Given the description of an element on the screen output the (x, y) to click on. 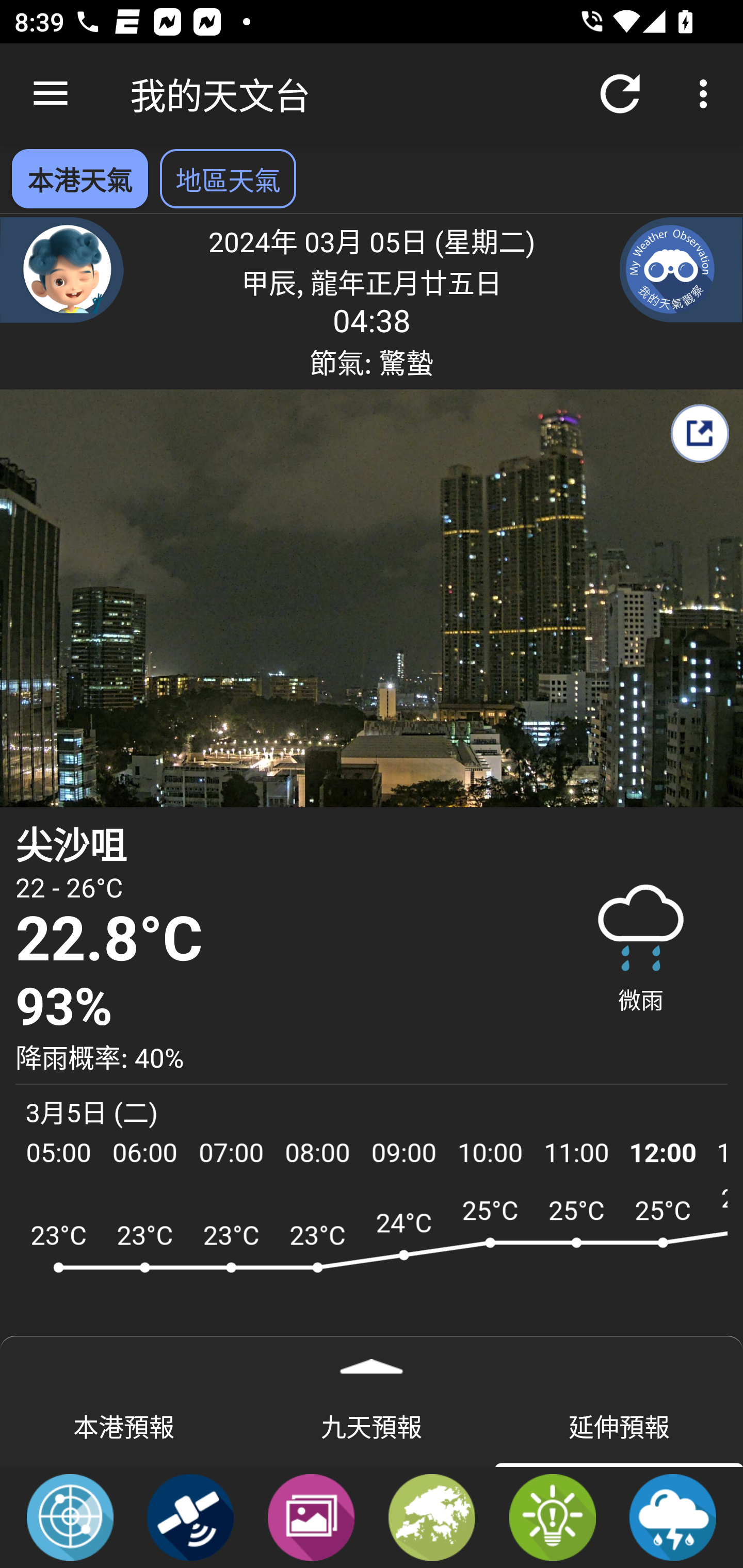
向上瀏覽 (50, 93)
重新整理 (619, 93)
更多選項 (706, 93)
本港天氣 已選擇 本港天氣 (79, 178)
地區天氣 選擇 地區天氣 (227, 178)
聊天機械人 (62, 269)
我的天氣觀察 (680, 269)
分享我的天氣報告 (699, 433)
22.8°C 氣溫22.8攝氏度 (276, 939)
93% 相對濕度百分之93 (276, 1007)
九天自動天氣預報 圖片
輕按進入內頁，即可了解詳細資料。 ARWF (371, 1275)
展開 (371, 1358)
本港預報 (123, 1424)
九天預報 (371, 1424)
雷達圖像 (69, 1516)
衛星圖像 (190, 1516)
天氣照片 (310, 1516)
分區天氣 (431, 1516)
天氣提示 (551, 1516)
定點降雨及閃電預報 (672, 1516)
